Given the description of an element on the screen output the (x, y) to click on. 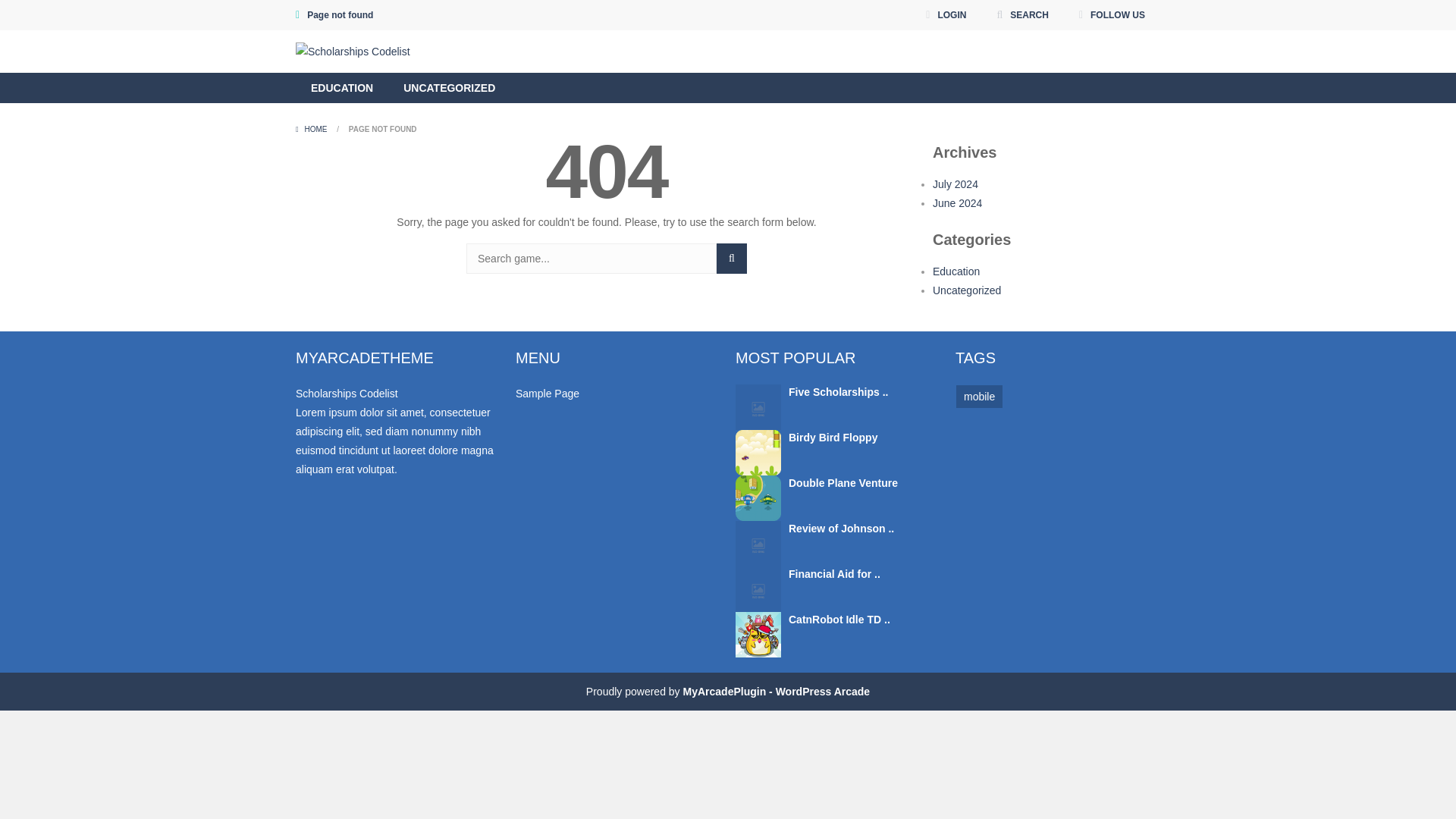
Scholarships Codelist (352, 51)
EDUCATION (341, 87)
Home (312, 129)
July 2024 (955, 184)
Sample Page (547, 393)
HOME (312, 129)
CatnRobot Idle TD Battle Cat (757, 633)
mobile (979, 395)
June 2024 (957, 203)
Uncategorized (967, 290)
Financial Aid for .. (834, 573)
LOGIN (945, 15)
WordPress Arcade (775, 691)
SEARCH (1022, 15)
